Given the description of an element on the screen output the (x, y) to click on. 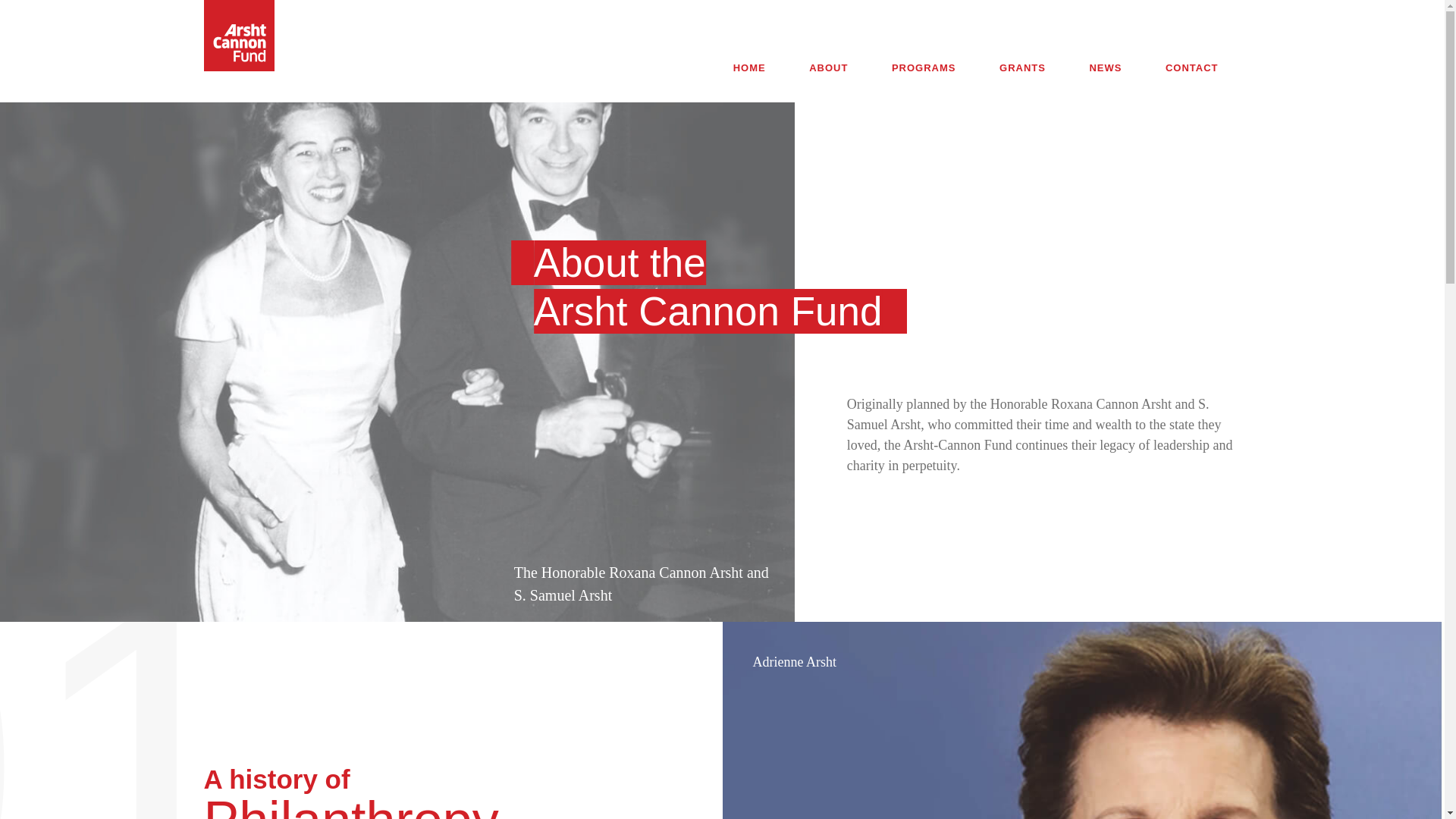
GRANTS (1022, 67)
PROGRAMS (924, 67)
ABOUT (828, 67)
HOME (749, 67)
NEWS (1104, 67)
CONTACT (1192, 67)
